Given the description of an element on the screen output the (x, y) to click on. 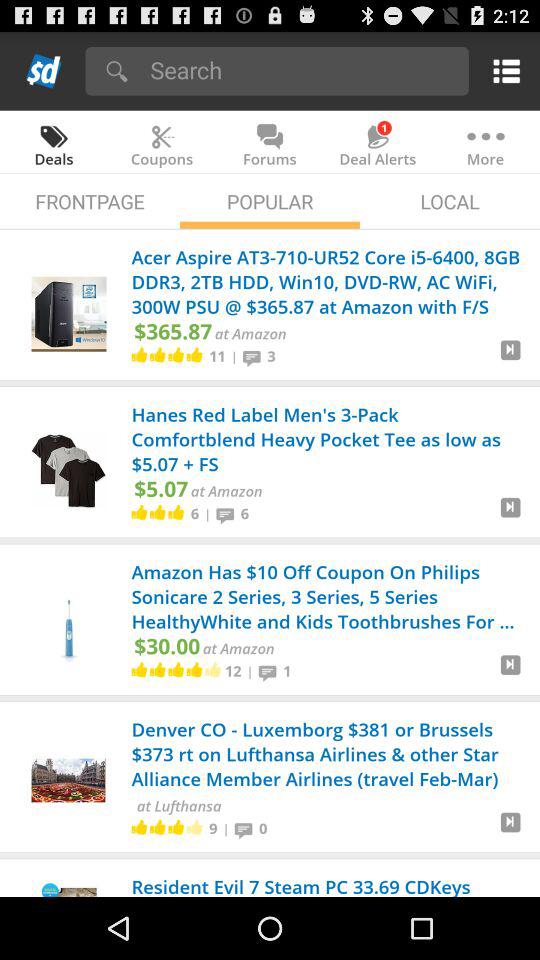
switch to select (510, 672)
